Given the description of an element on the screen output the (x, y) to click on. 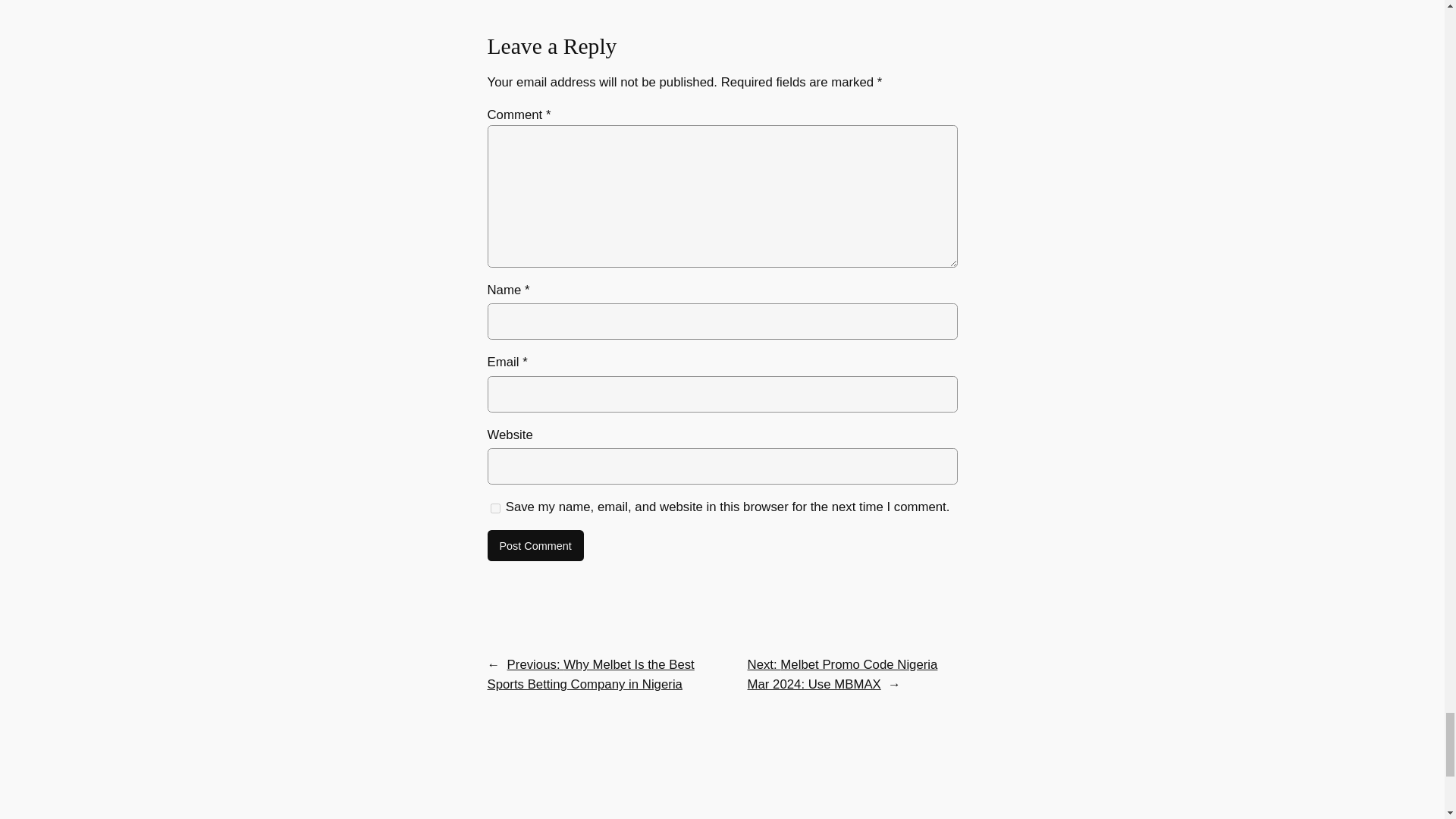
Next: Melbet Promo Code Nigeria Mar 2024: Use MBMAX (842, 674)
Post Comment (534, 545)
Post Comment (534, 545)
